Given the description of an element on the screen output the (x, y) to click on. 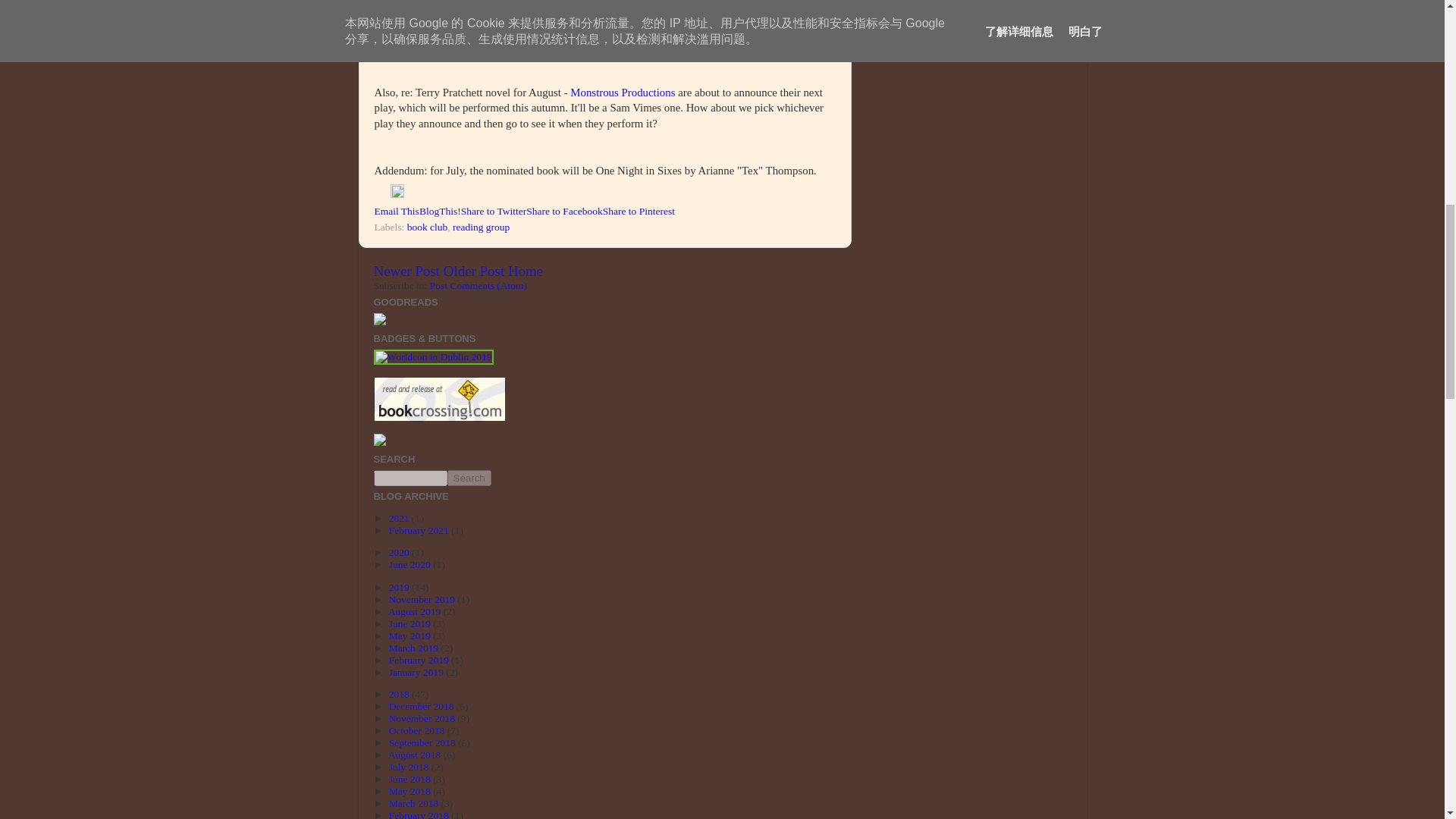
Home (525, 270)
reading group (480, 226)
Edit Post (397, 194)
Share to Twitter (494, 211)
Share to Facebook (563, 211)
Newer Post (405, 270)
BlogThis! (440, 211)
BlogThis! (440, 211)
Monstrous Productions (622, 92)
Search (469, 478)
book club (427, 226)
Share to Pinterest (638, 211)
Email Post (382, 194)
Search (469, 478)
Share to Facebook (563, 211)
